Given the description of an element on the screen output the (x, y) to click on. 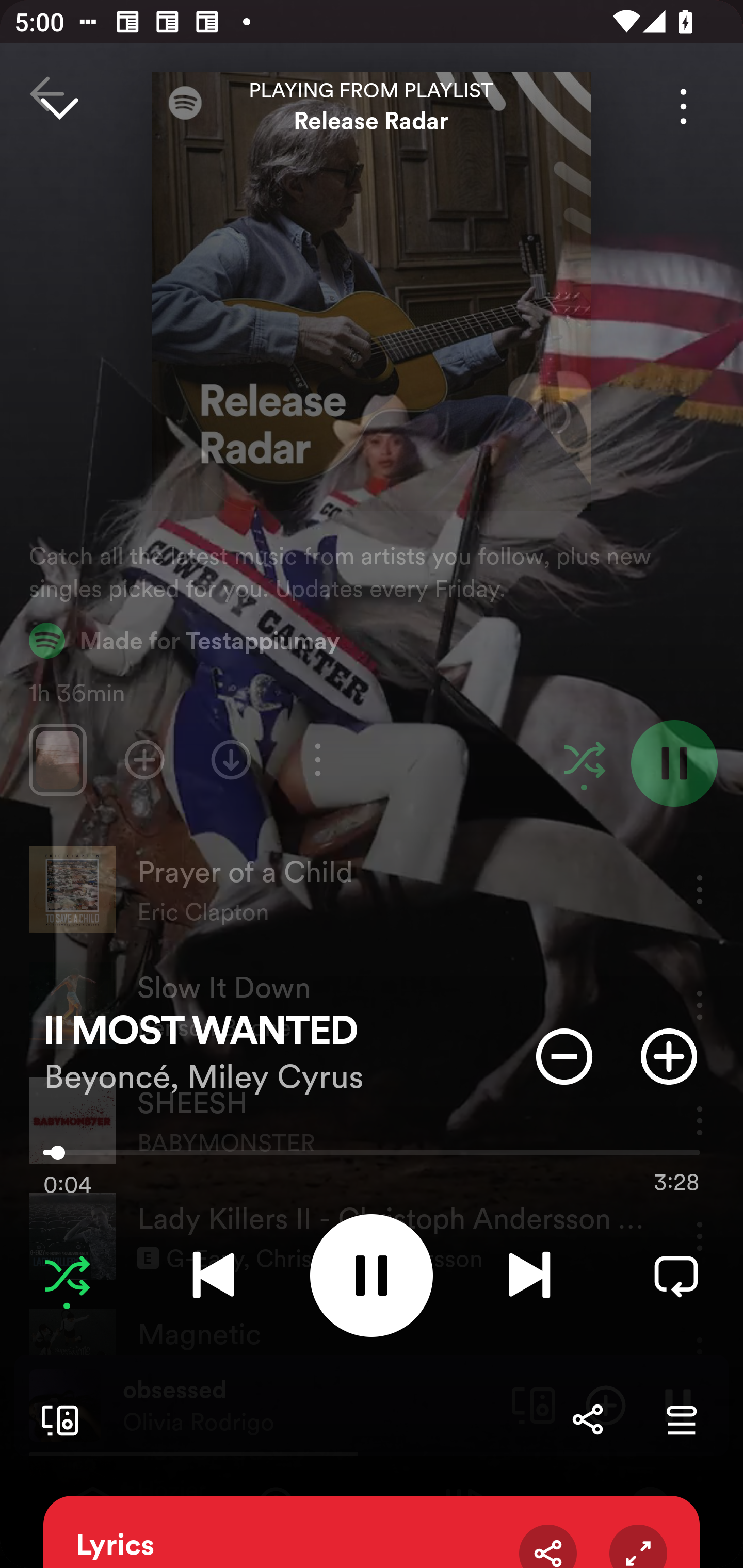
Close (59, 106)
More options for song II MOST WANTED (683, 106)
PLAYING FROM PLAYLIST Release Radar (371, 106)
Don't play this (564, 1056)
Add item (669, 1056)
0:03 3:28 3943.0 Use volume keys to adjust (371, 1157)
Pause (371, 1275)
Previous (212, 1275)
Next (529, 1275)
Stop shuffling tracks (66, 1275)
Repeat (676, 1275)
Share (587, 1419)
Go to Queue (681, 1419)
Connect to a device. Opens the devices menu (55, 1419)
Lyrics Share Expand (371, 1531)
Share (547, 1546)
Expand (638, 1546)
